Given the description of an element on the screen output the (x, y) to click on. 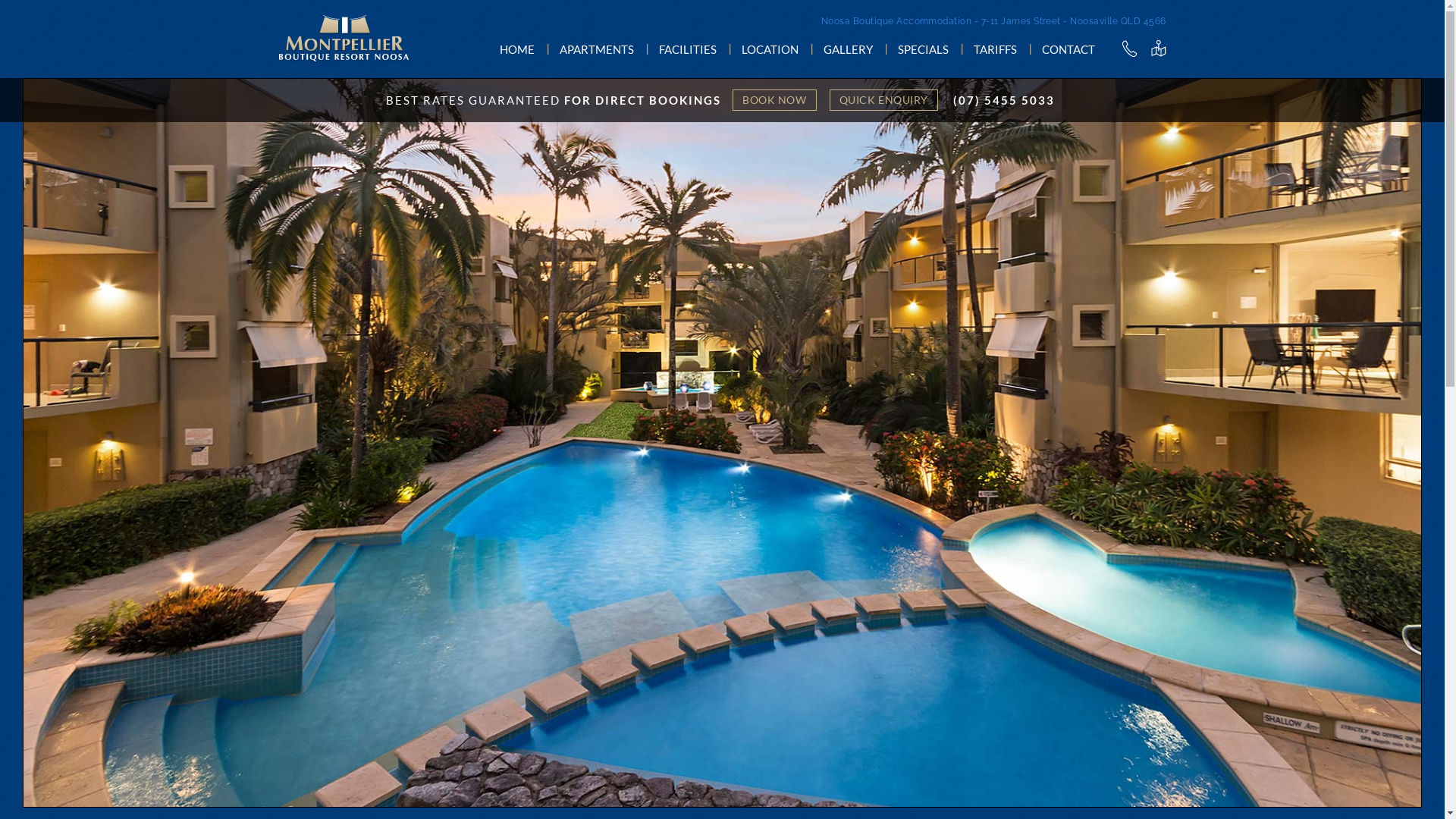
QUICK ENQUIRY Element type: text (883, 99)
HOME Element type: text (515, 49)
APARTMENTS Element type: text (596, 49)
SPECIALS Element type: text (922, 49)
FACILITIES Element type: text (686, 49)
TARIFFS Element type: text (994, 49)
(07) 5455 5033 Element type: text (1003, 99)
LOCATION Element type: text (769, 49)
BOOK NOW Element type: text (773, 99)
CONTACT Element type: text (1068, 49)
GALLERY Element type: text (847, 49)
